Given the description of an element on the screen output the (x, y) to click on. 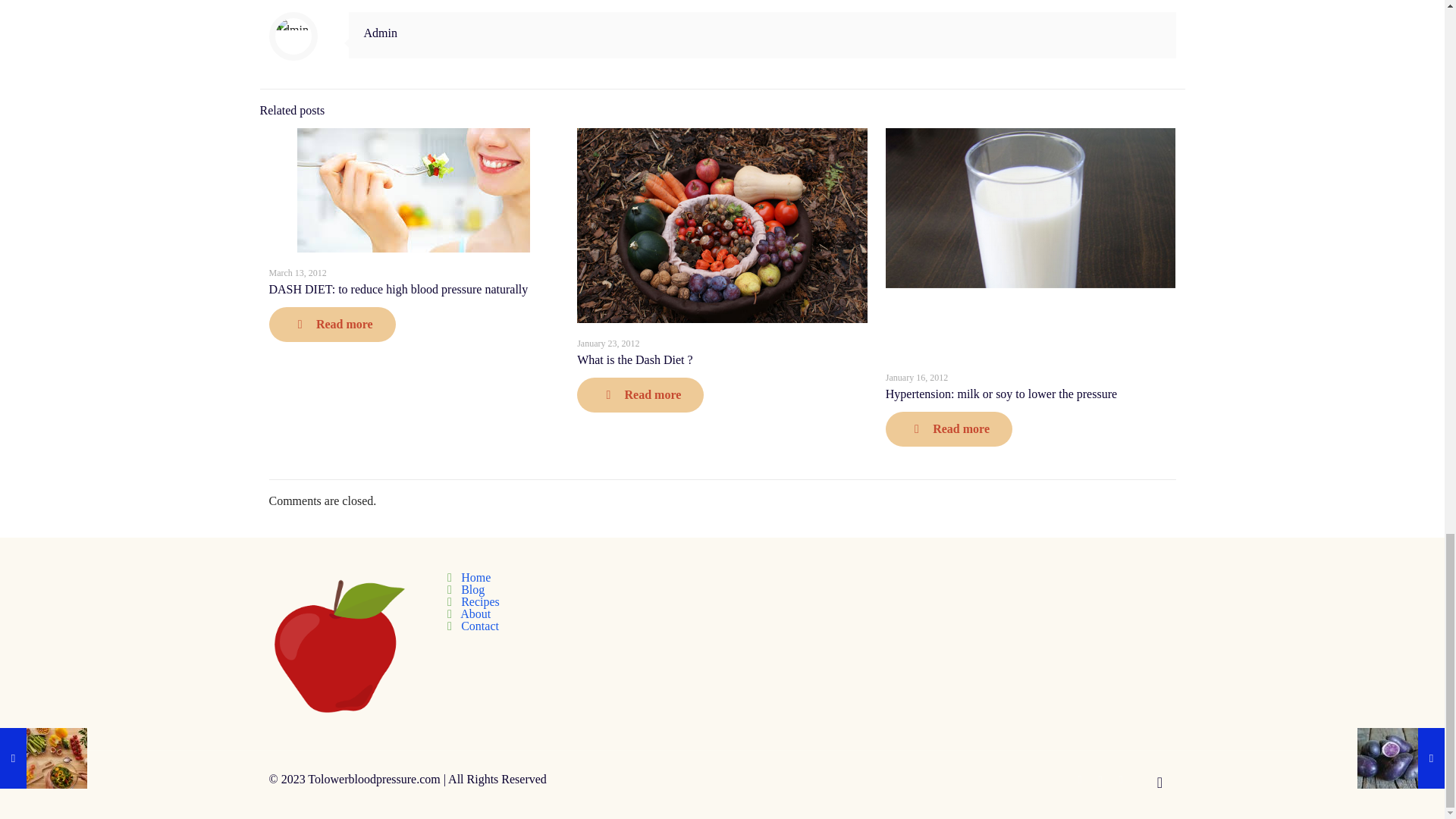
Read more (639, 394)
Facebook (1100, 779)
What is the Dash Diet ? (634, 359)
Skype (1079, 779)
Admin (380, 32)
Twitter (1121, 779)
DASH DIET: to reduce high blood pressure naturally (397, 288)
Read more (330, 324)
